Given the description of an element on the screen output the (x, y) to click on. 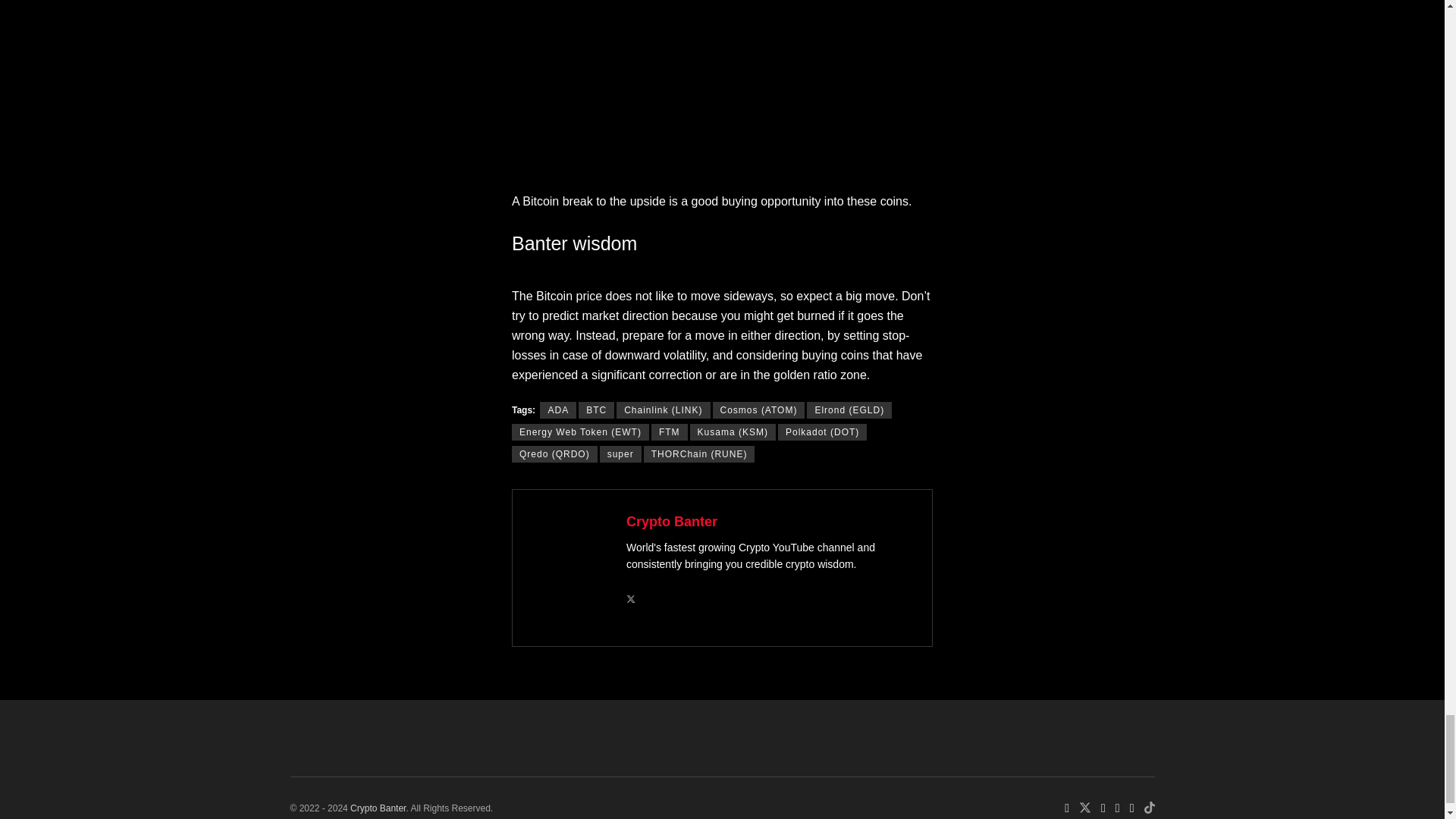
BTC (596, 410)
super (620, 453)
Crypto Banter (378, 808)
ADA (558, 410)
Crypto Banter (671, 521)
FTM (668, 432)
